Given the description of an element on the screen output the (x, y) to click on. 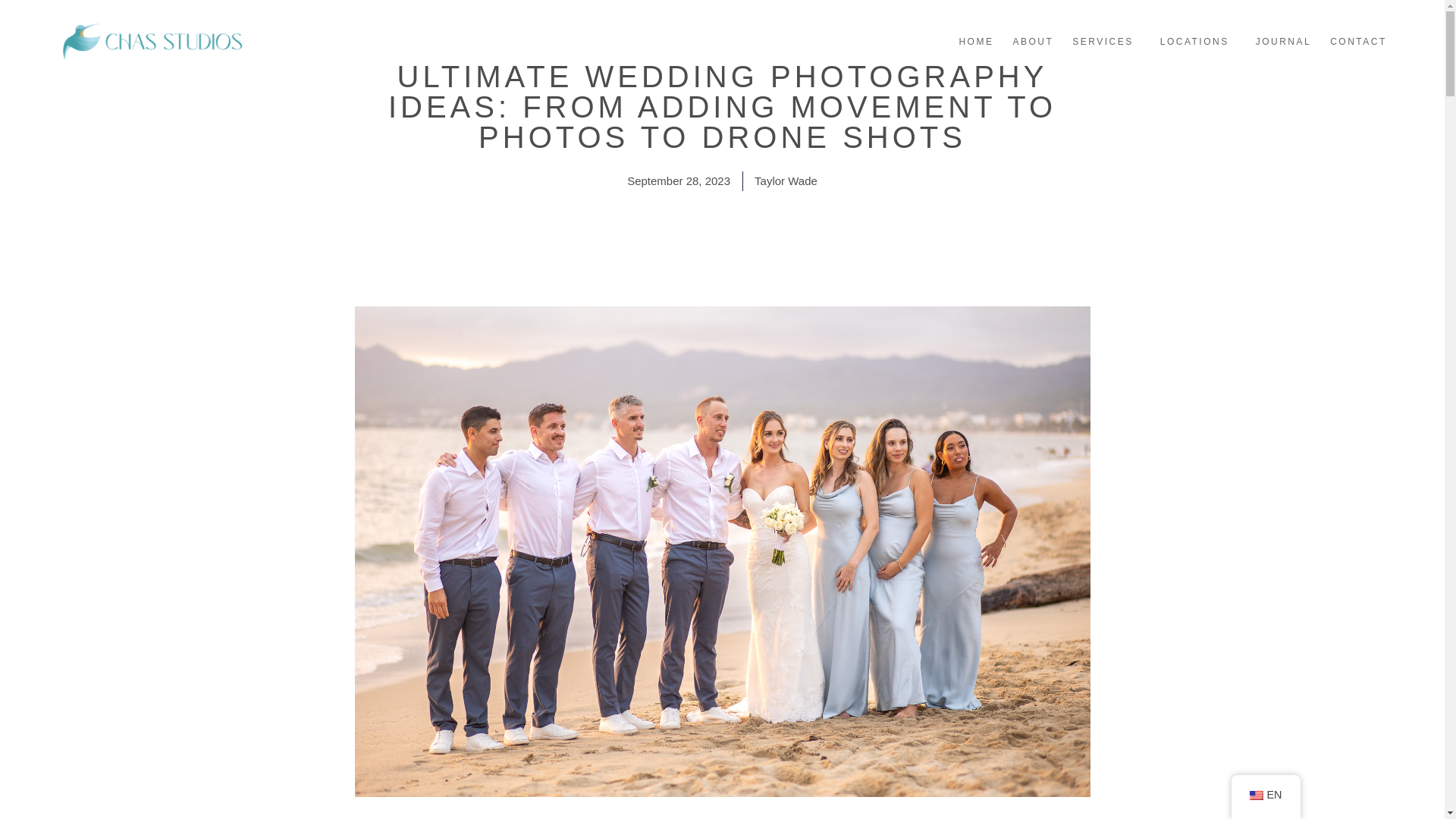
English (1256, 795)
SERVICES (1105, 41)
HOME (975, 41)
ABOUT (1031, 41)
LOCATIONS (1198, 41)
JOURNAL (1283, 41)
CONTACT (1358, 41)
